Given the description of an element on the screen output the (x, y) to click on. 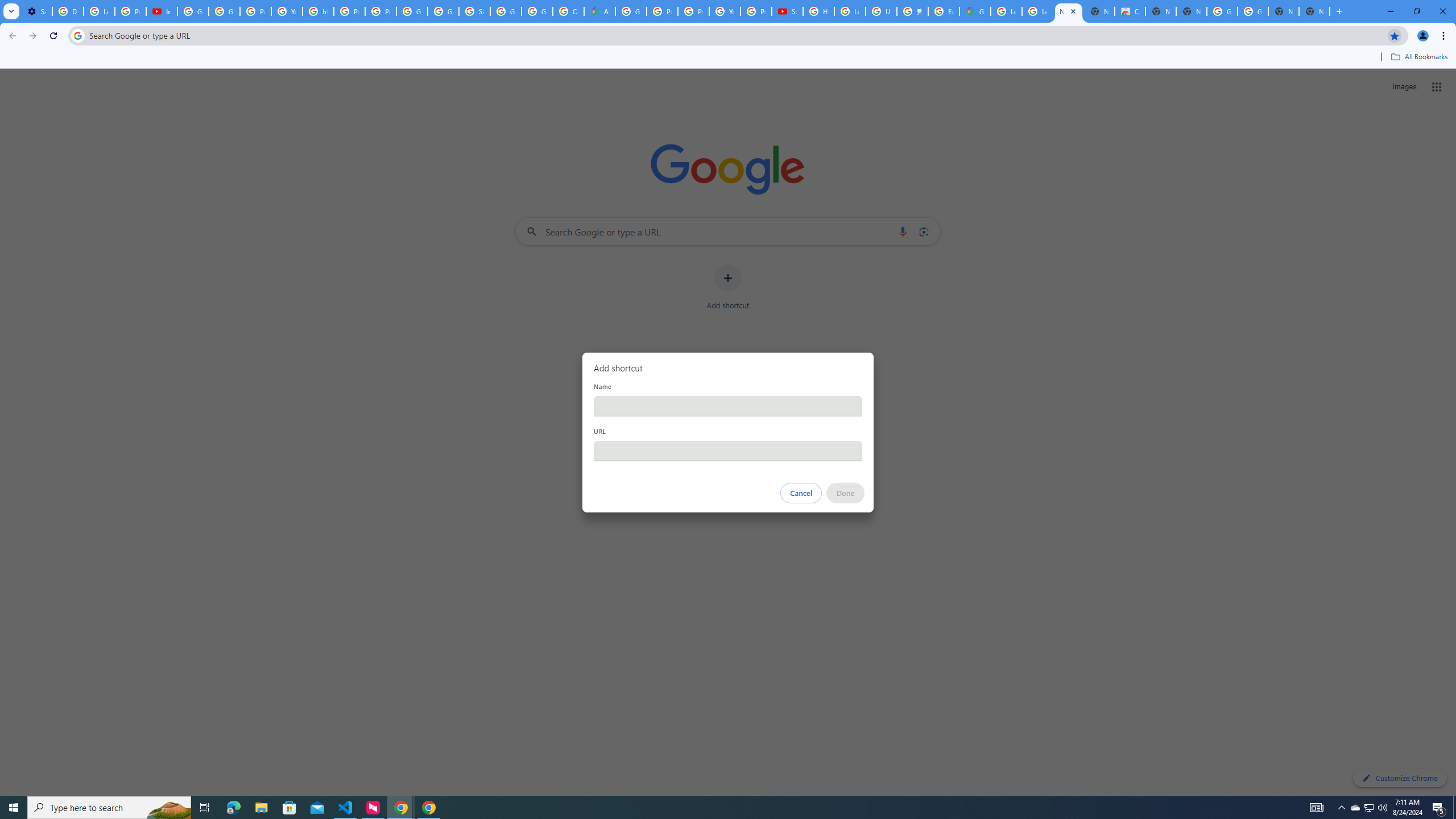
How Chrome protects your passwords - Google Chrome Help (818, 11)
Name (727, 405)
Privacy Help Center - Policies Help (349, 11)
https://scholar.google.com/ (318, 11)
Explore new street-level details - Google Maps Help (943, 11)
Search icon (77, 35)
YouTube (724, 11)
Chrome Web Store (1129, 11)
